Given the description of an element on the screen output the (x, y) to click on. 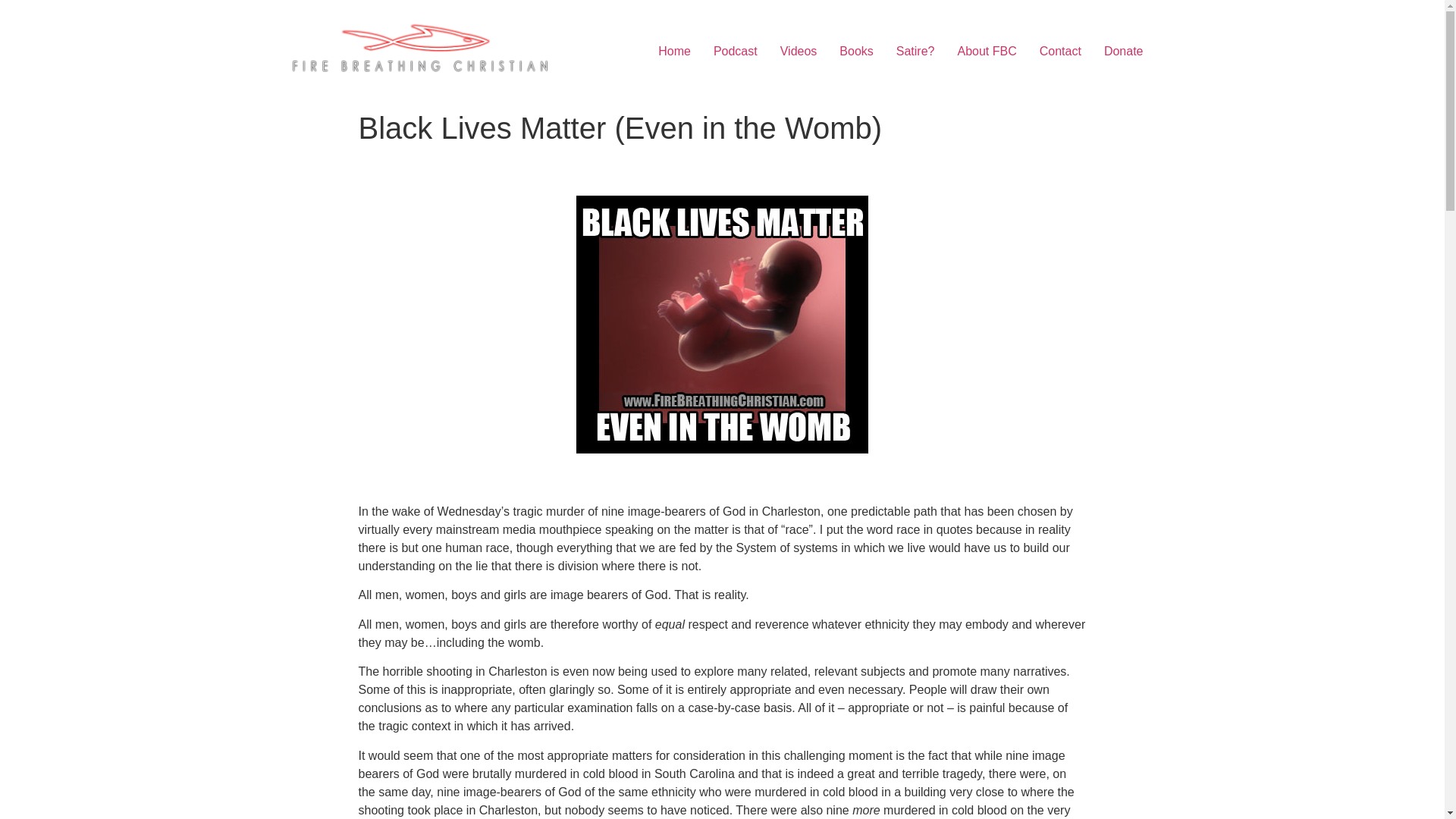
Home (673, 51)
Contact (1060, 51)
Videos (798, 51)
Podcast (734, 51)
Books (855, 51)
About FBC (986, 51)
Donate (1123, 51)
Satire? (915, 51)
